Given the description of an element on the screen output the (x, y) to click on. 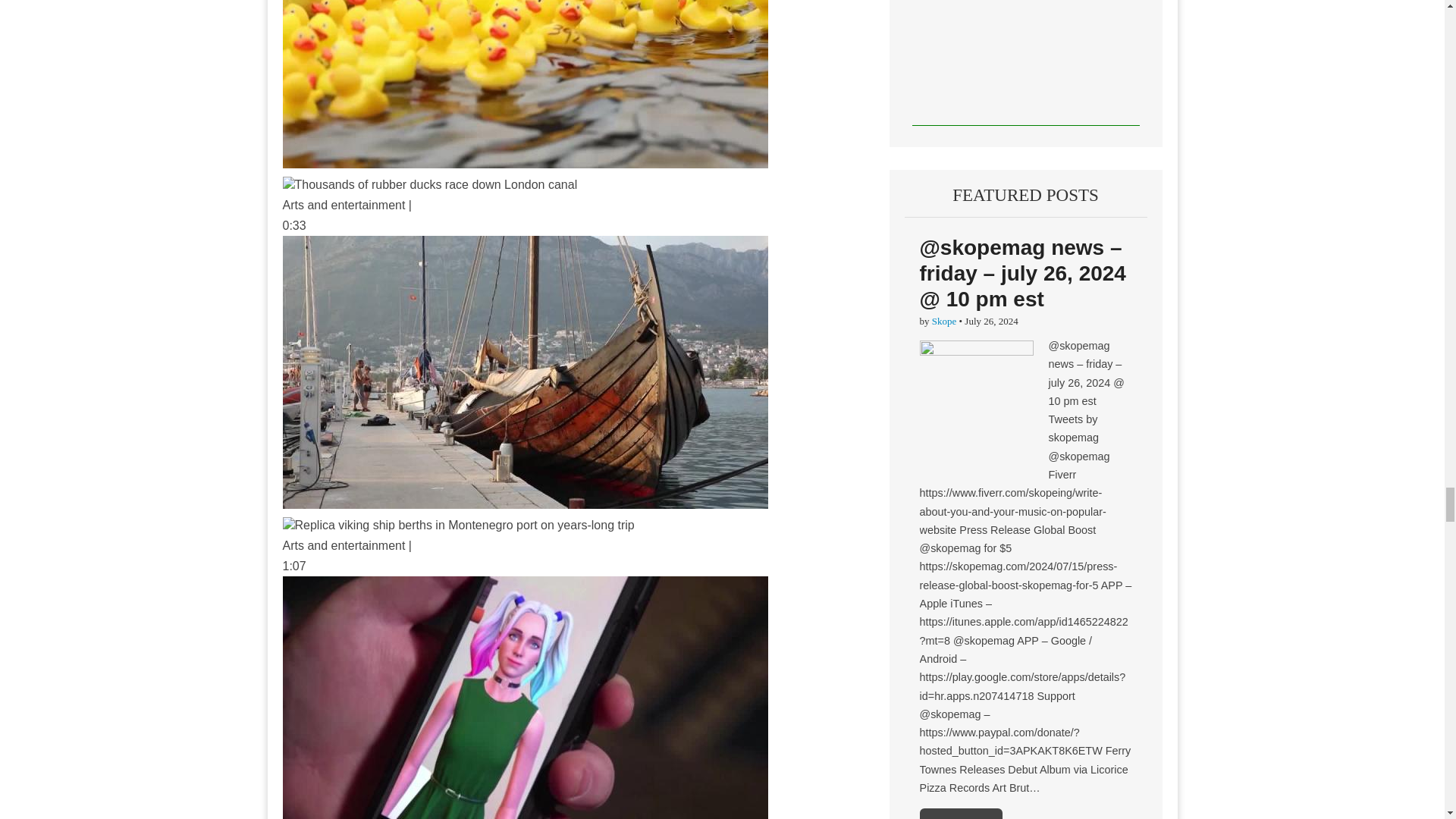
Posts by Skope (943, 320)
